Given the description of an element on the screen output the (x, y) to click on. 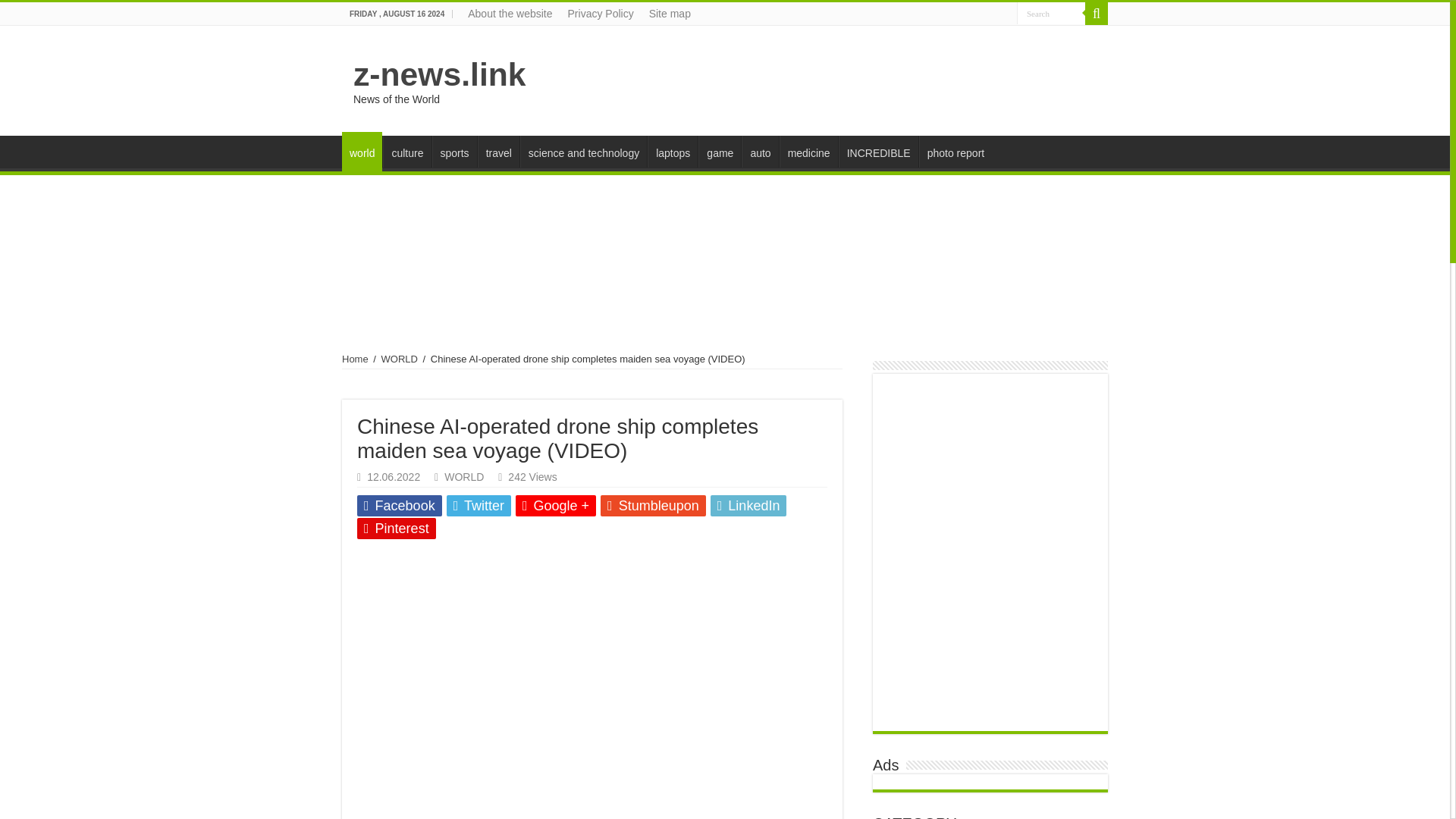
WORLD (463, 476)
About the website (509, 13)
z-news.link (439, 74)
INCREDIBLE (878, 151)
sports (454, 151)
Stumbleupon (652, 505)
LinkedIn (748, 505)
WORLD (399, 358)
Search (1050, 13)
Home (355, 358)
